Given the description of an element on the screen output the (x, y) to click on. 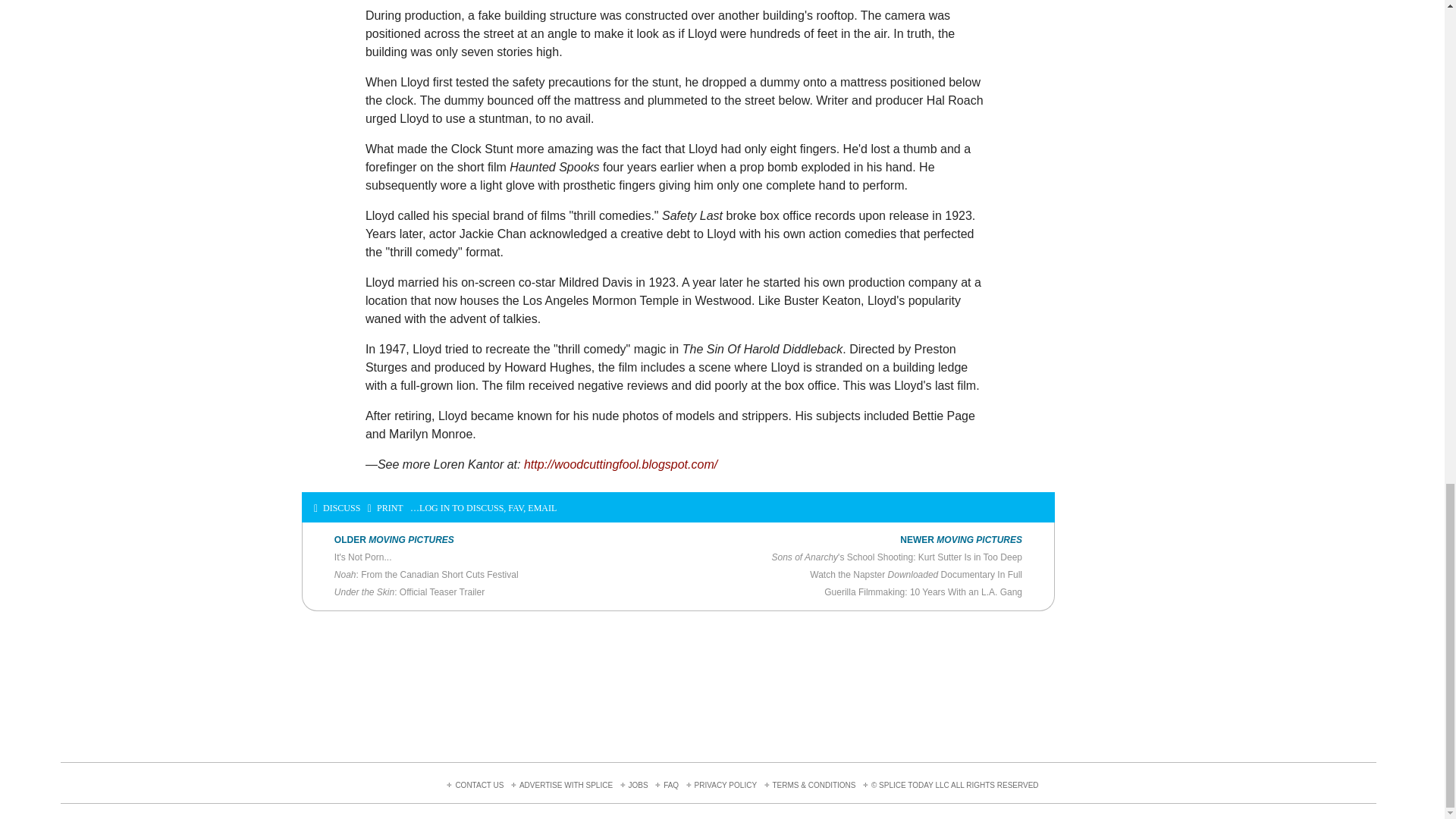
DISCUSS (336, 508)
PRINT (385, 508)
